Given the description of an element on the screen output the (x, y) to click on. 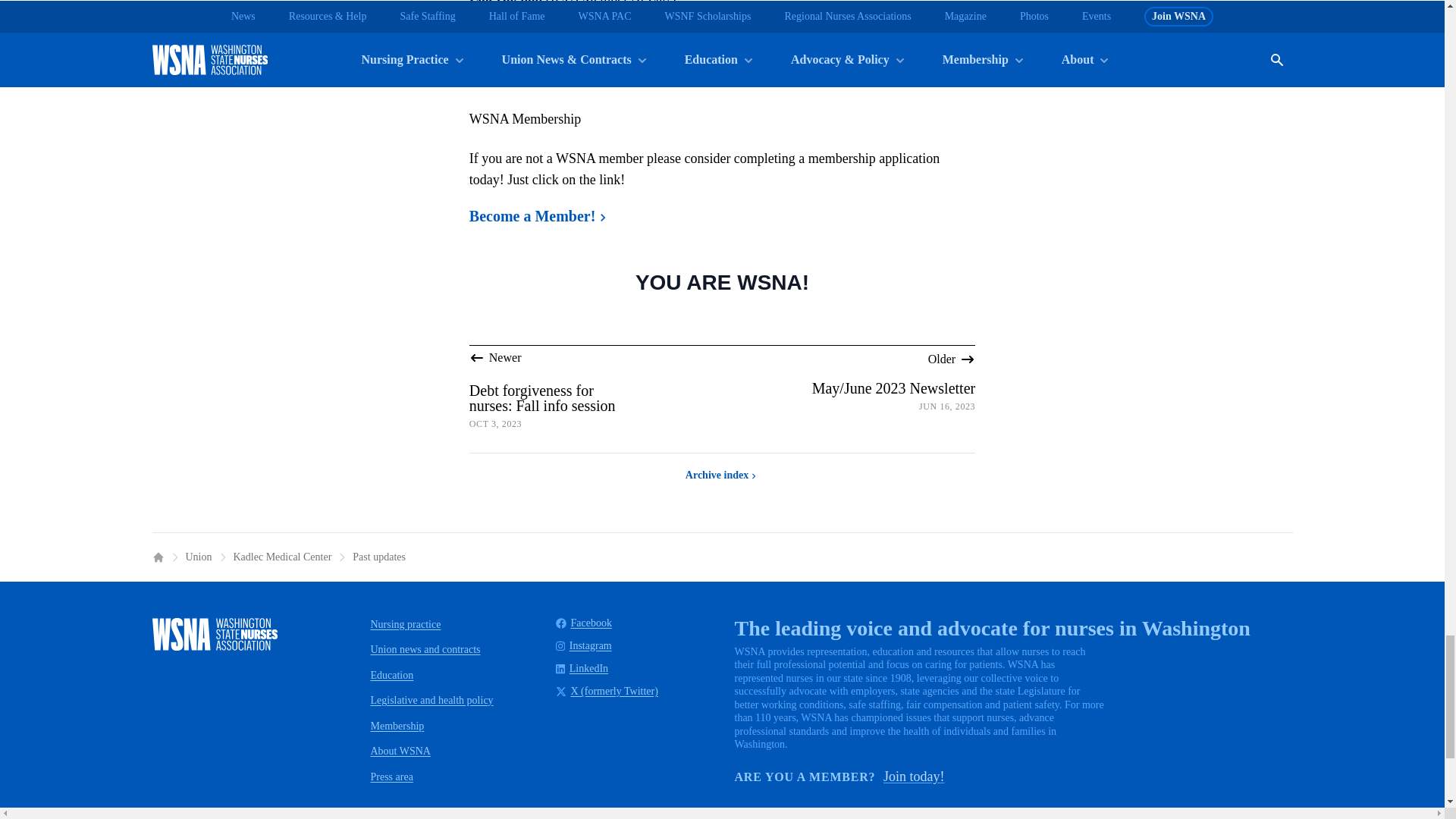
Washington State Nurses Association (213, 634)
